Given the description of an element on the screen output the (x, y) to click on. 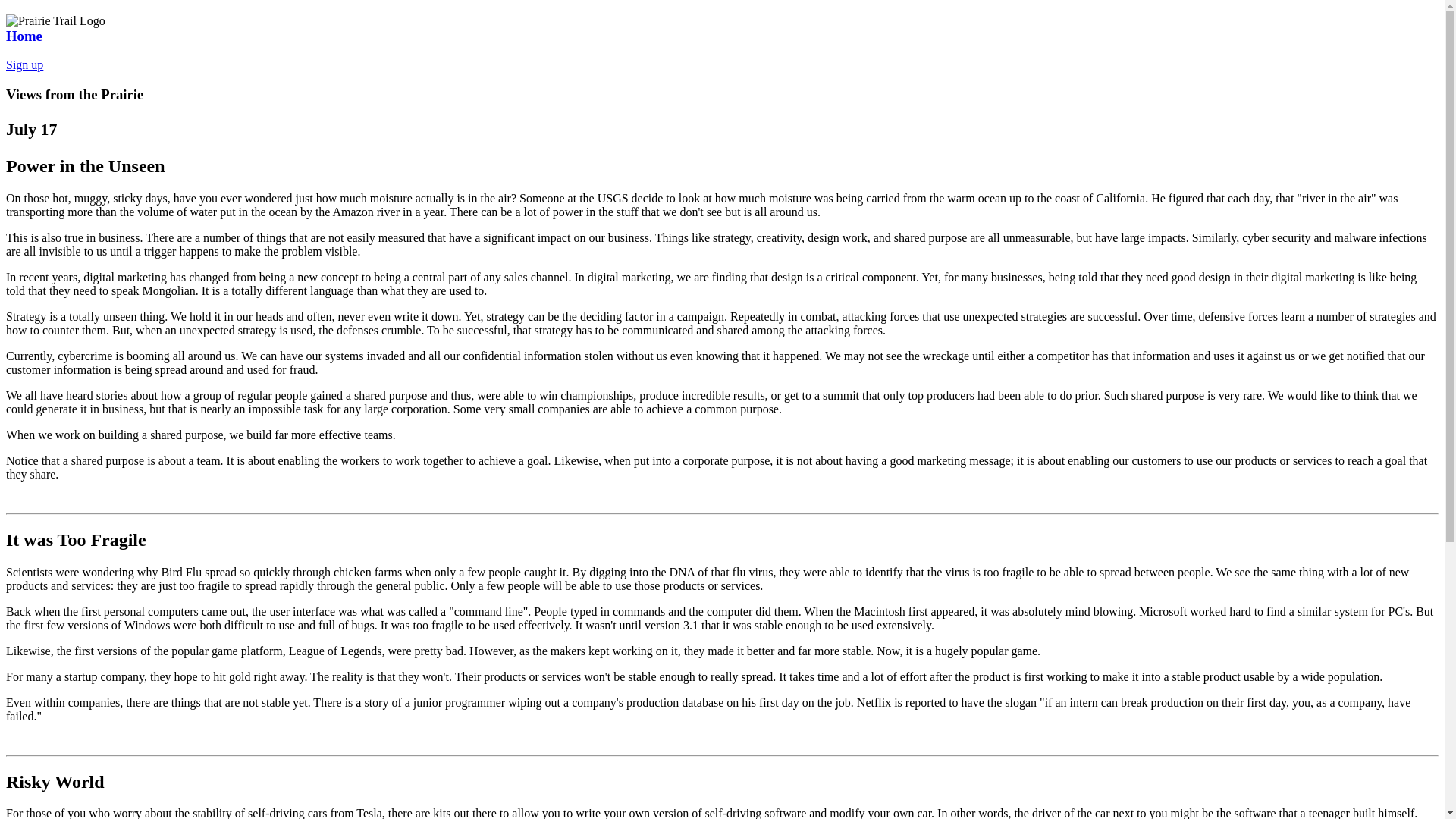
Sign up (24, 64)
